Given the description of an element on the screen output the (x, y) to click on. 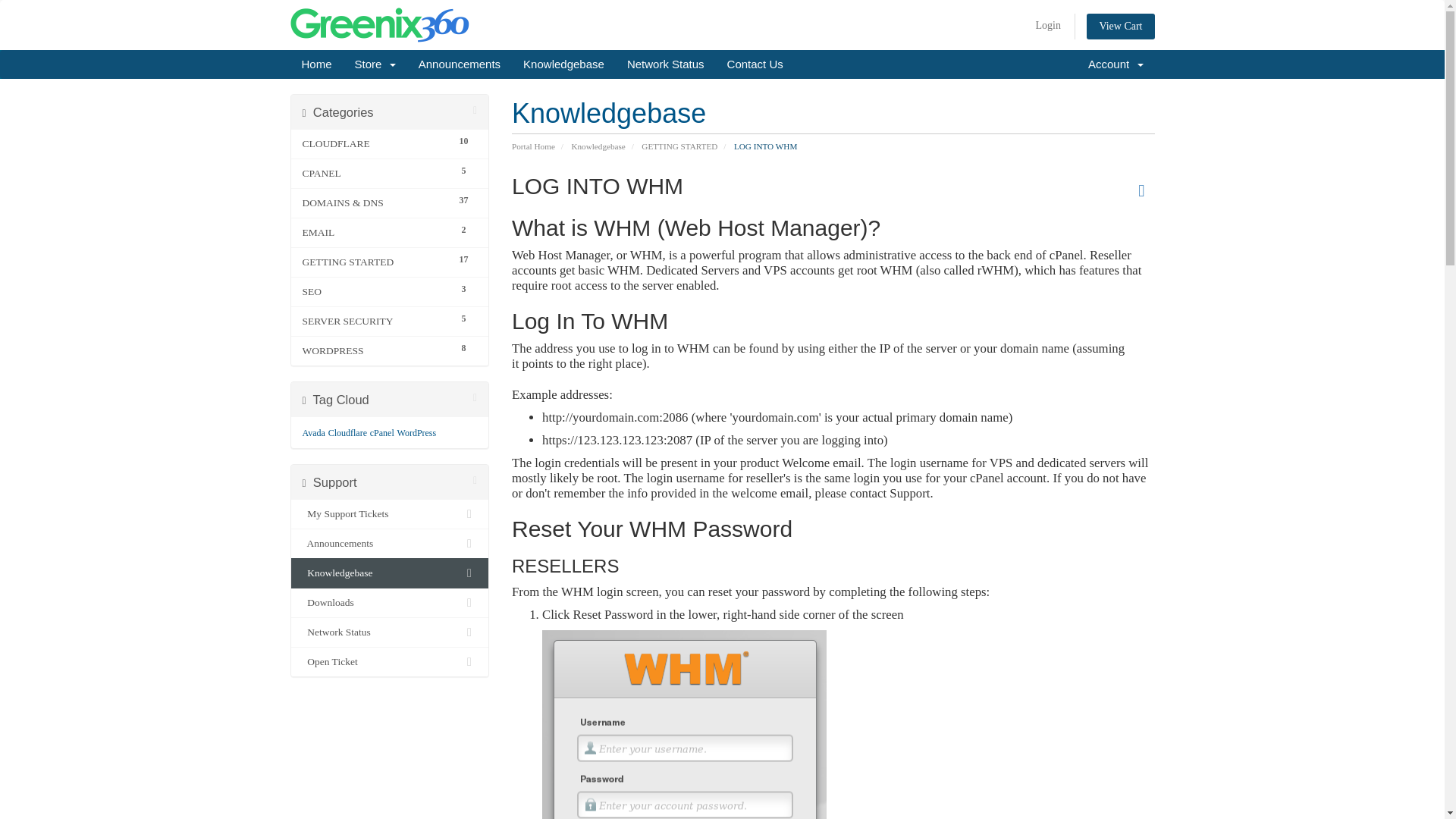
Portal Home (533, 145)
View Cart (390, 350)
Login (1120, 26)
Account   (390, 262)
SERVER SECURITY (390, 232)
